Given the description of an element on the screen output the (x, y) to click on. 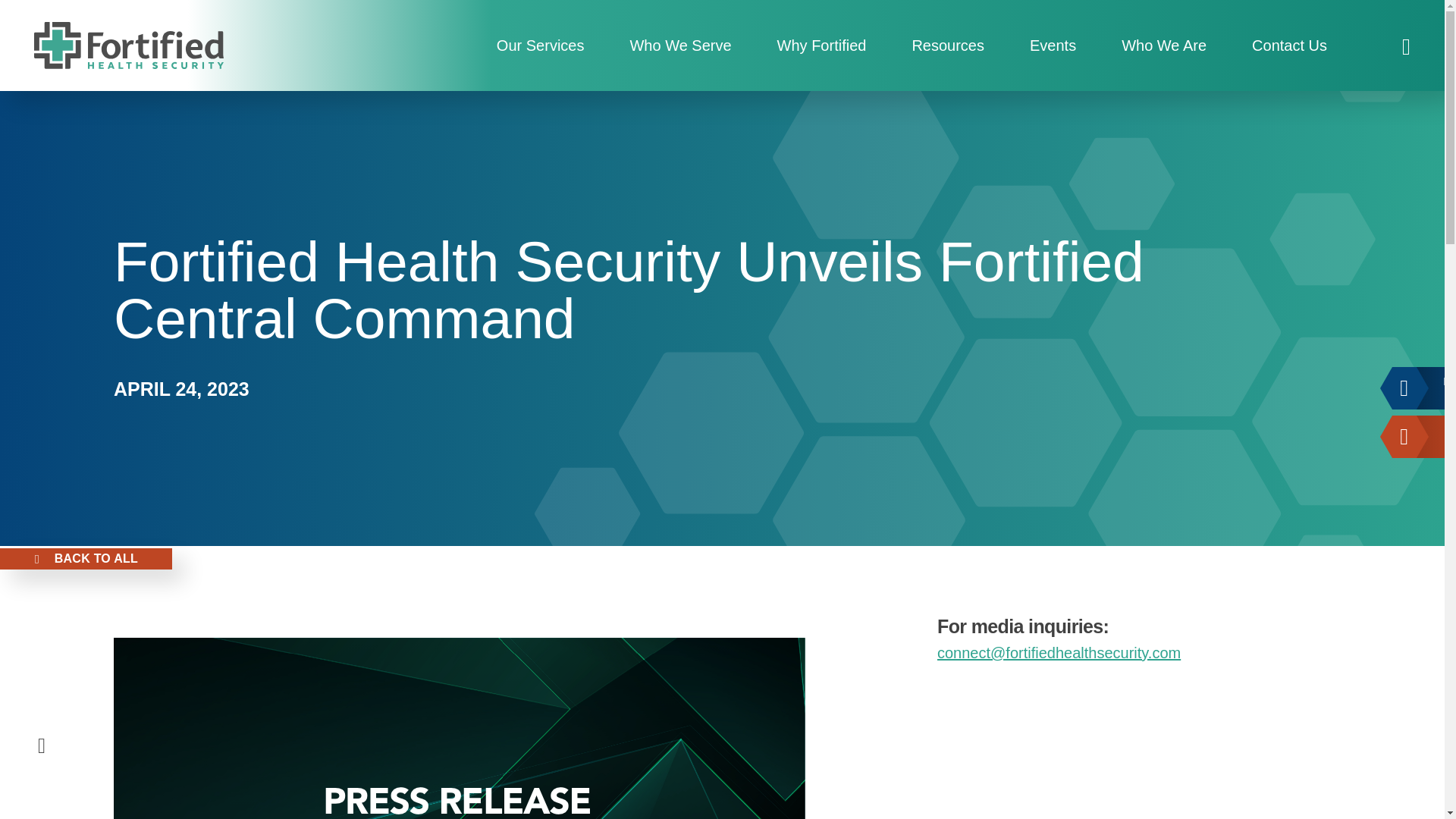
Events (1053, 45)
Why Fortified (821, 45)
Who We Serve (680, 45)
Resources (947, 45)
Our Services (540, 45)
